Given the description of an element on the screen output the (x, y) to click on. 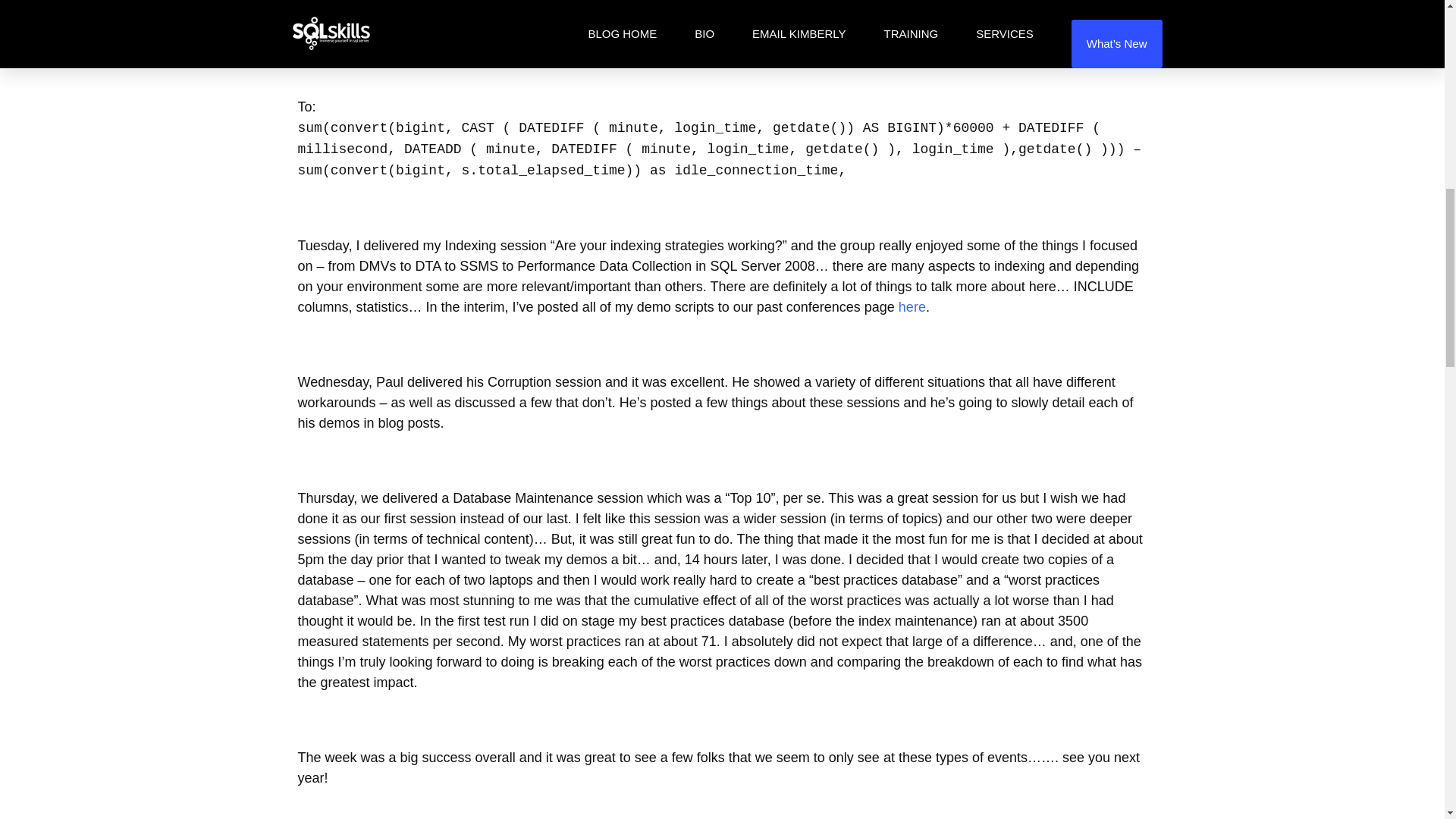
here (912, 306)
